Given the description of an element on the screen output the (x, y) to click on. 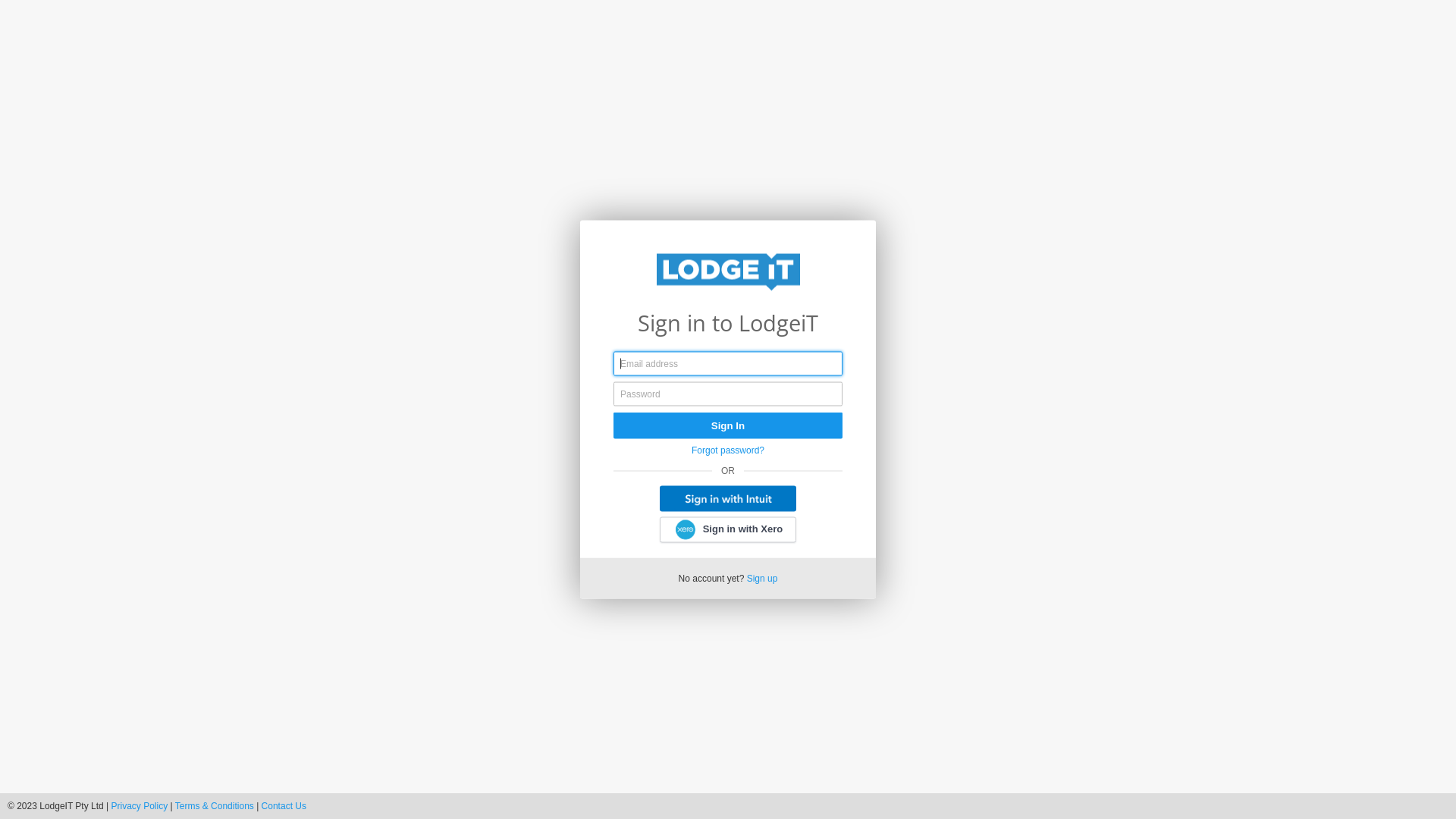
Sign In Element type: text (727, 425)
Sign up Element type: text (762, 578)
Privacy Policy Element type: text (138, 805)
Forgot password? Element type: text (727, 449)
Sign in with Xero Element type: text (727, 529)
Terms & Conditions Element type: text (214, 805)
Contact Us Element type: text (283, 805)
